Given the description of an element on the screen output the (x, y) to click on. 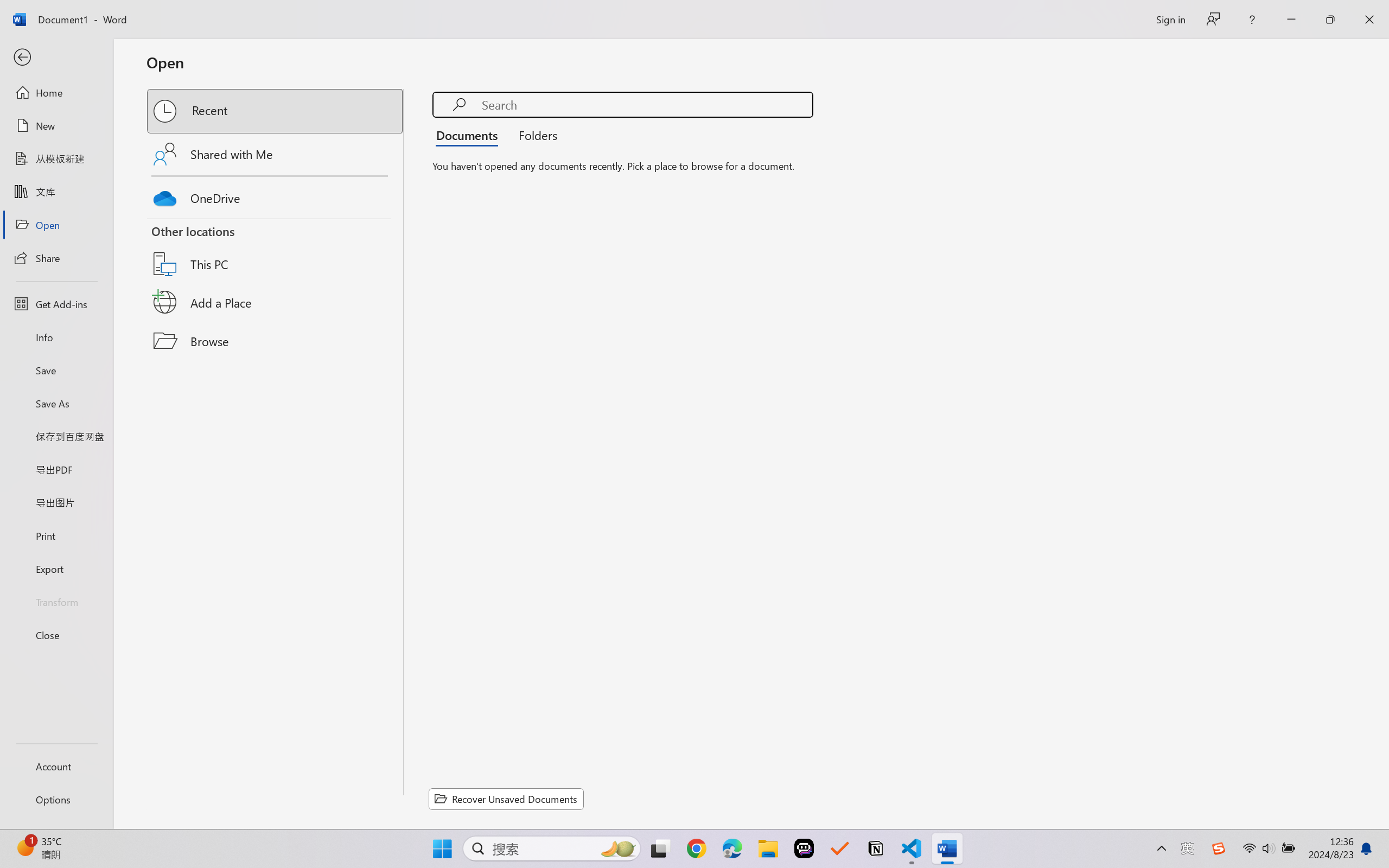
Documents (469, 134)
Recent (275, 110)
Back (56, 57)
Options (56, 798)
Browse (275, 340)
Account (56, 765)
